Given the description of an element on the screen output the (x, y) to click on. 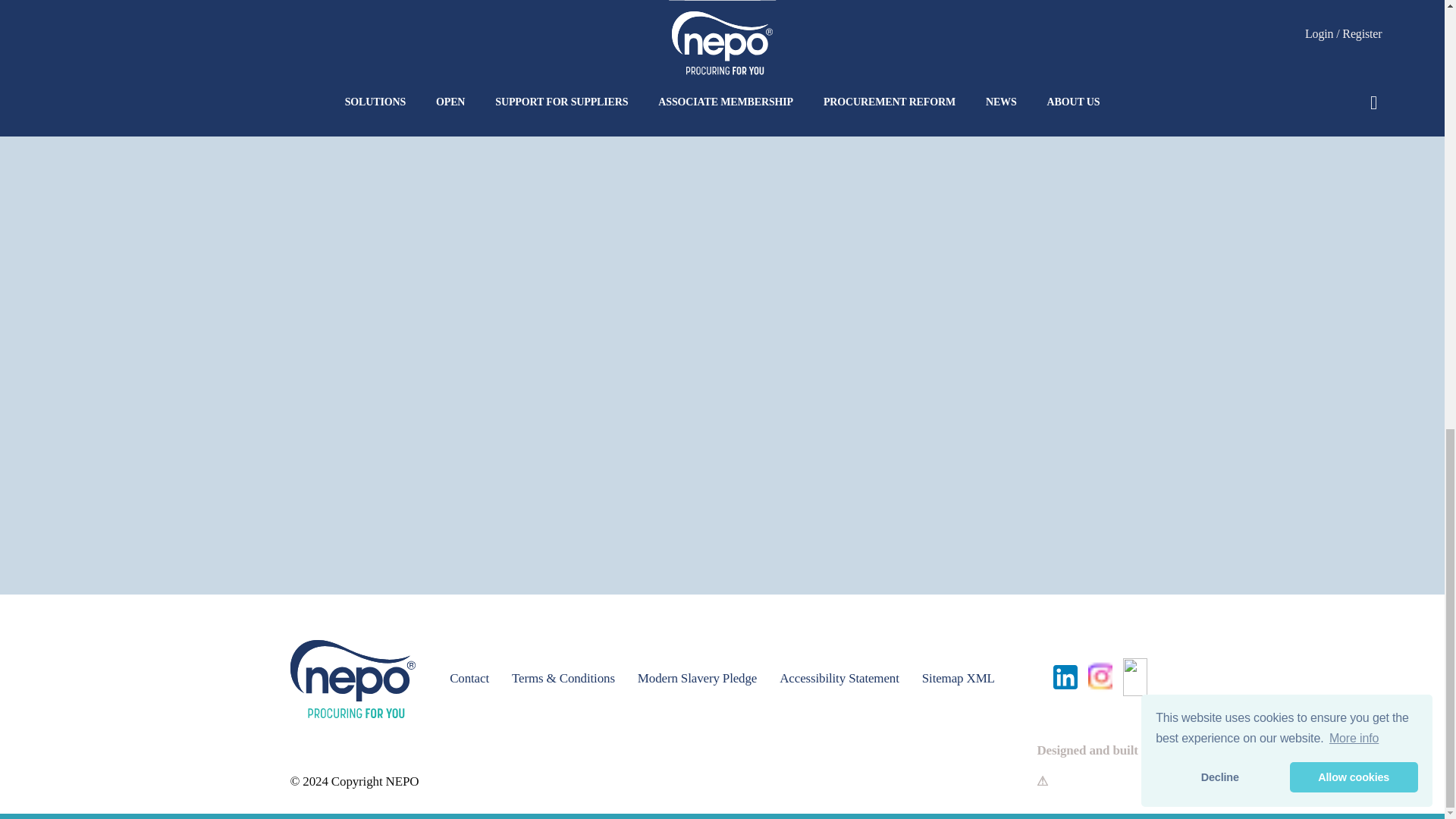
Modern Slavery Pledge (697, 678)
Contact (469, 678)
Sitemap XML (957, 678)
Accessibility Statement (838, 678)
